Given the description of an element on the screen output the (x, y) to click on. 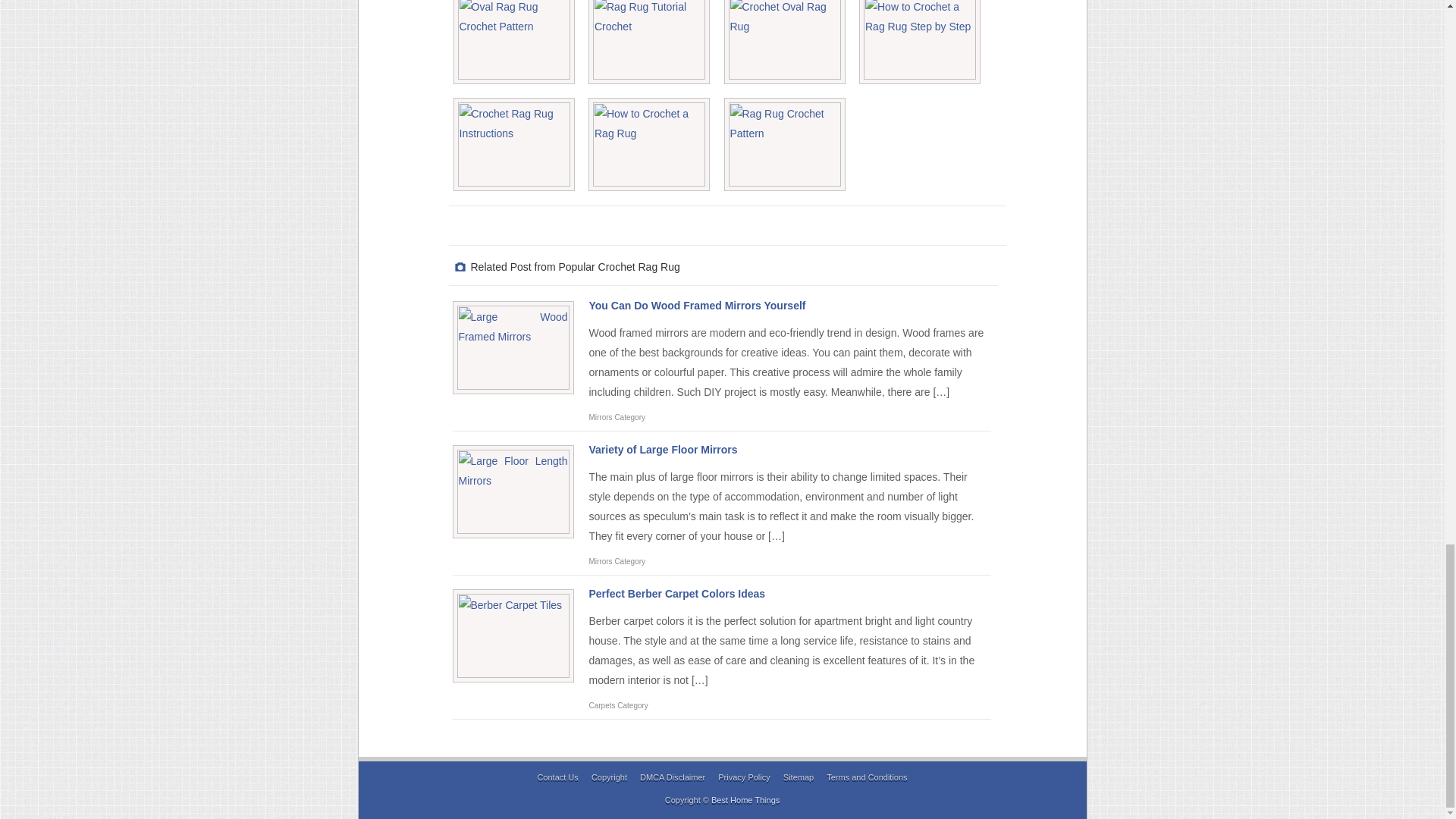
Perfect Berber Carpet Colors Ideas (676, 593)
Privacy Policy (743, 777)
Variety of Large Floor Mirrors (662, 449)
Sitemap (798, 777)
Terms and Conditions (867, 777)
DMCA Disclaimer (672, 777)
Copyright (609, 777)
You Can Do Wood Framed Mirrors Yourself (696, 305)
Variety of Large Floor Mirrors (662, 449)
Contact Us (557, 777)
